Given the description of an element on the screen output the (x, y) to click on. 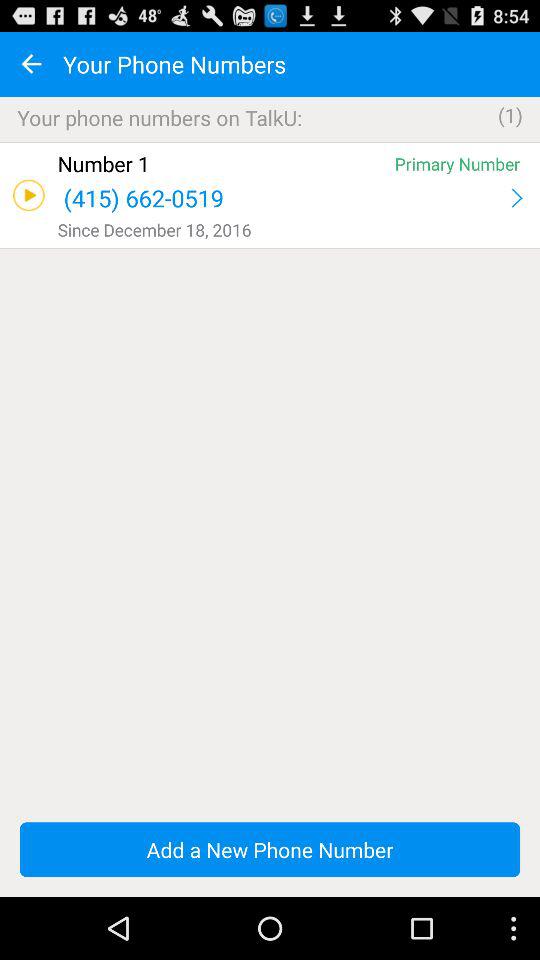
press item to the left of the number 1 app (28, 195)
